Given the description of an element on the screen output the (x, y) to click on. 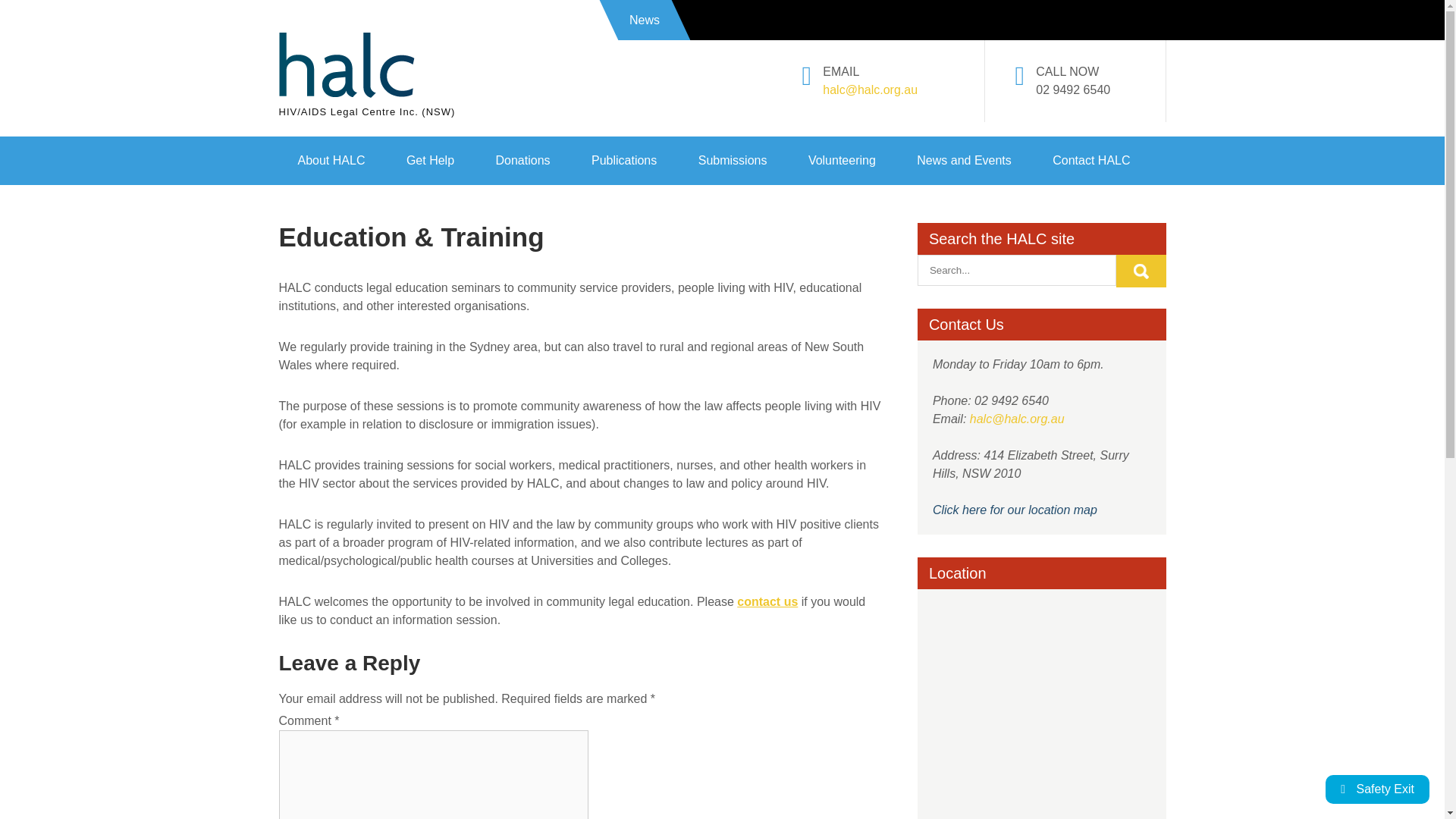
Search (1141, 270)
Contact HALC (766, 600)
Volunteering (842, 160)
Search (1141, 270)
contact us (766, 600)
Contact HALC (1090, 160)
Search (1141, 270)
Donations (522, 160)
Contact HALC (1015, 509)
Publications (623, 160)
Click here for our location map (1015, 509)
Safety Exit (1376, 788)
About HALC (331, 160)
Submissions (732, 160)
News and Events (964, 160)
